Given the description of an element on the screen output the (x, y) to click on. 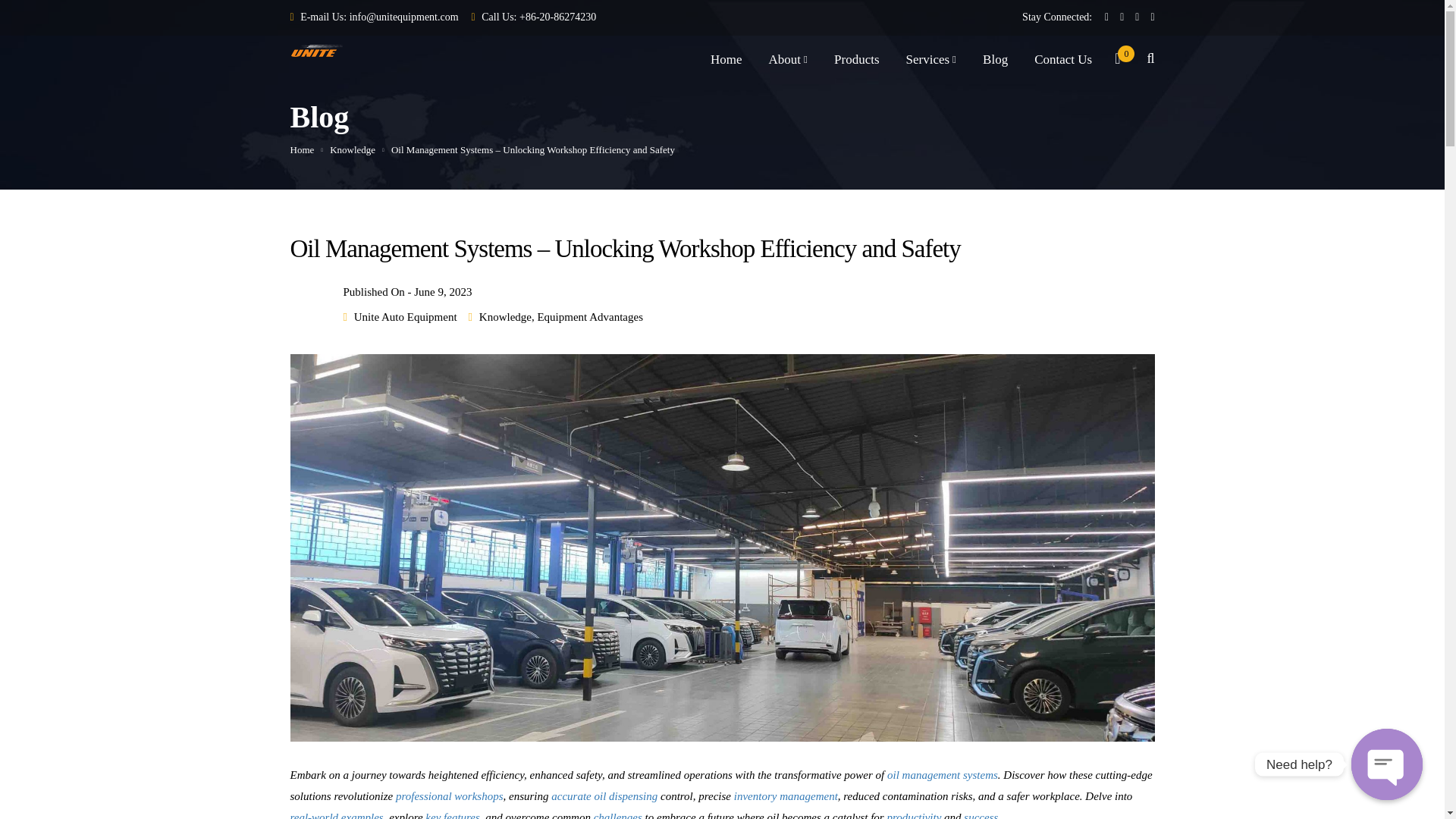
challenges (618, 815)
View all posts in oil management systems (941, 775)
Equipment Advantages (590, 316)
oil management systems (941, 775)
View all posts in productivity (913, 815)
Blog (994, 62)
Home (726, 62)
0 (1117, 62)
Knowledge (352, 149)
June 9, 2023 (442, 291)
Contact Us (1062, 62)
About (788, 62)
View all posts in accurate oil dispensing (604, 796)
Knowledge (505, 316)
View all posts in success (980, 815)
